Given the description of an element on the screen output the (x, y) to click on. 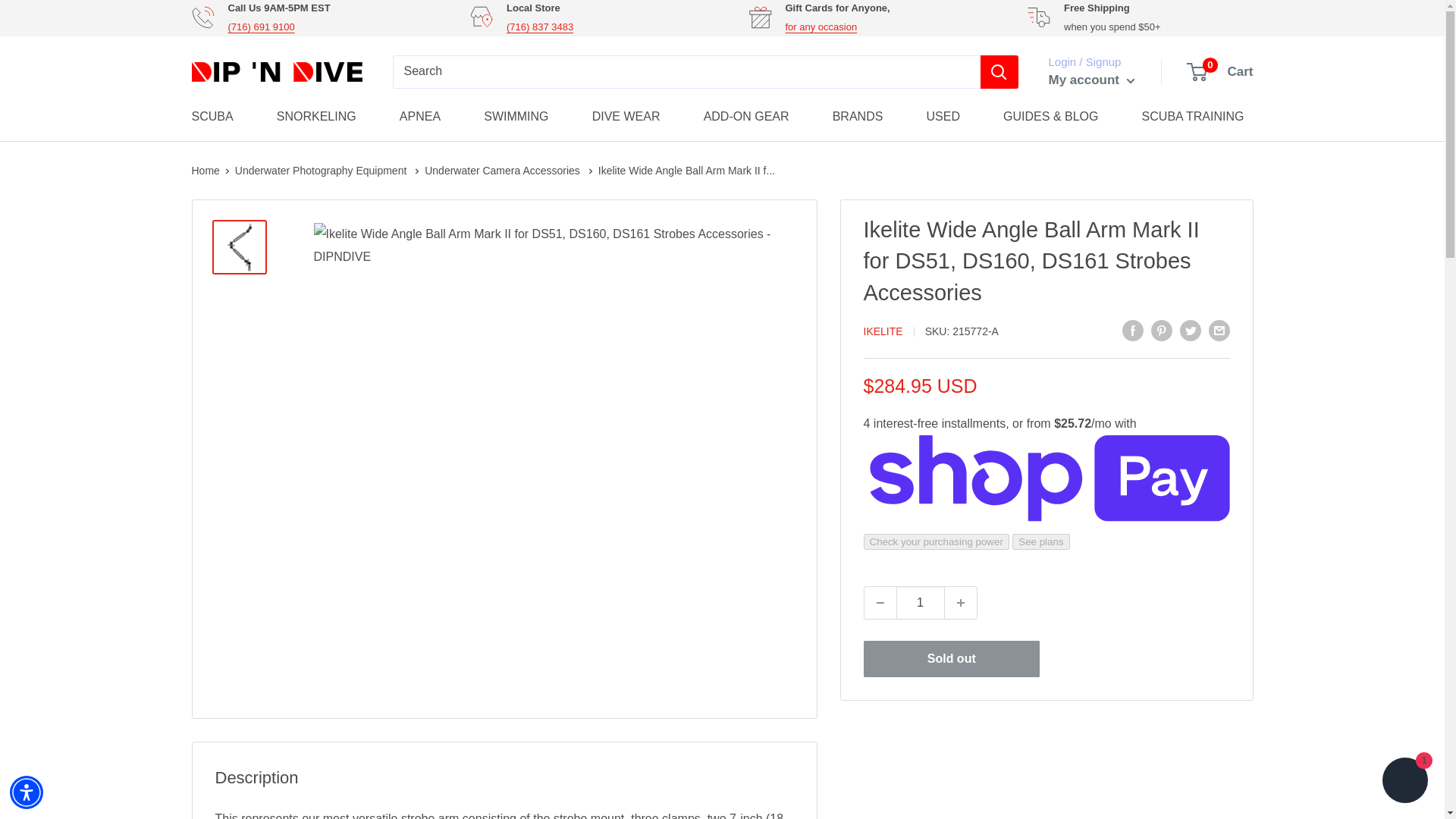
Decrease quantity by 1 (880, 603)
Accessibility Menu (26, 792)
DIPNDIVE Gift Card (821, 26)
for any occasion (821, 26)
1 (920, 603)
Increase quantity by 1 (960, 603)
Shopify online store chat (1404, 781)
